Given the description of an element on the screen output the (x, y) to click on. 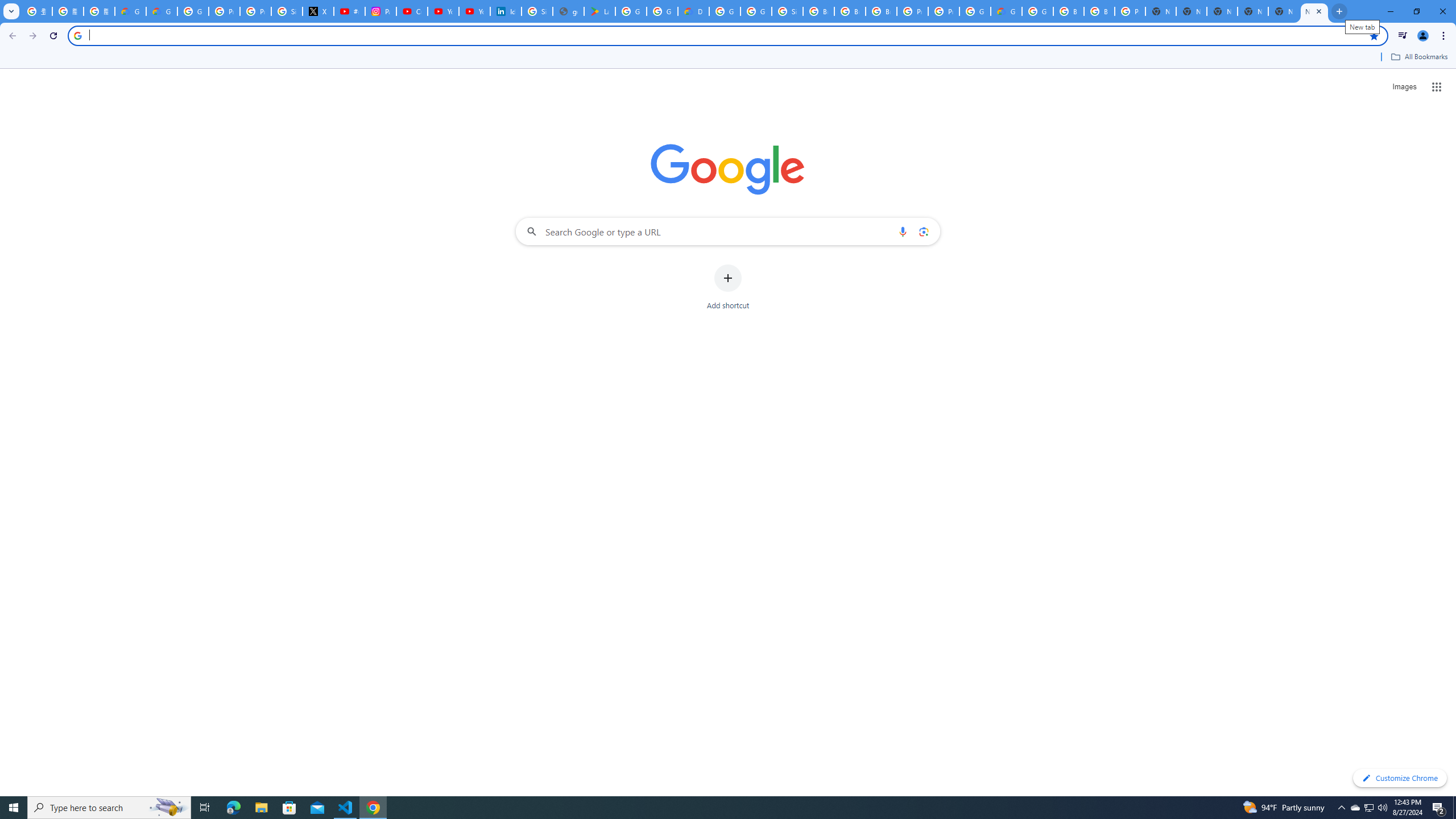
All Bookmarks (1418, 56)
X (318, 11)
Sign in - Google Accounts (787, 11)
Google Cloud Platform (1037, 11)
Google Cloud Estimate Summary (1005, 11)
Add shortcut (727, 287)
